Given the description of an element on the screen output the (x, y) to click on. 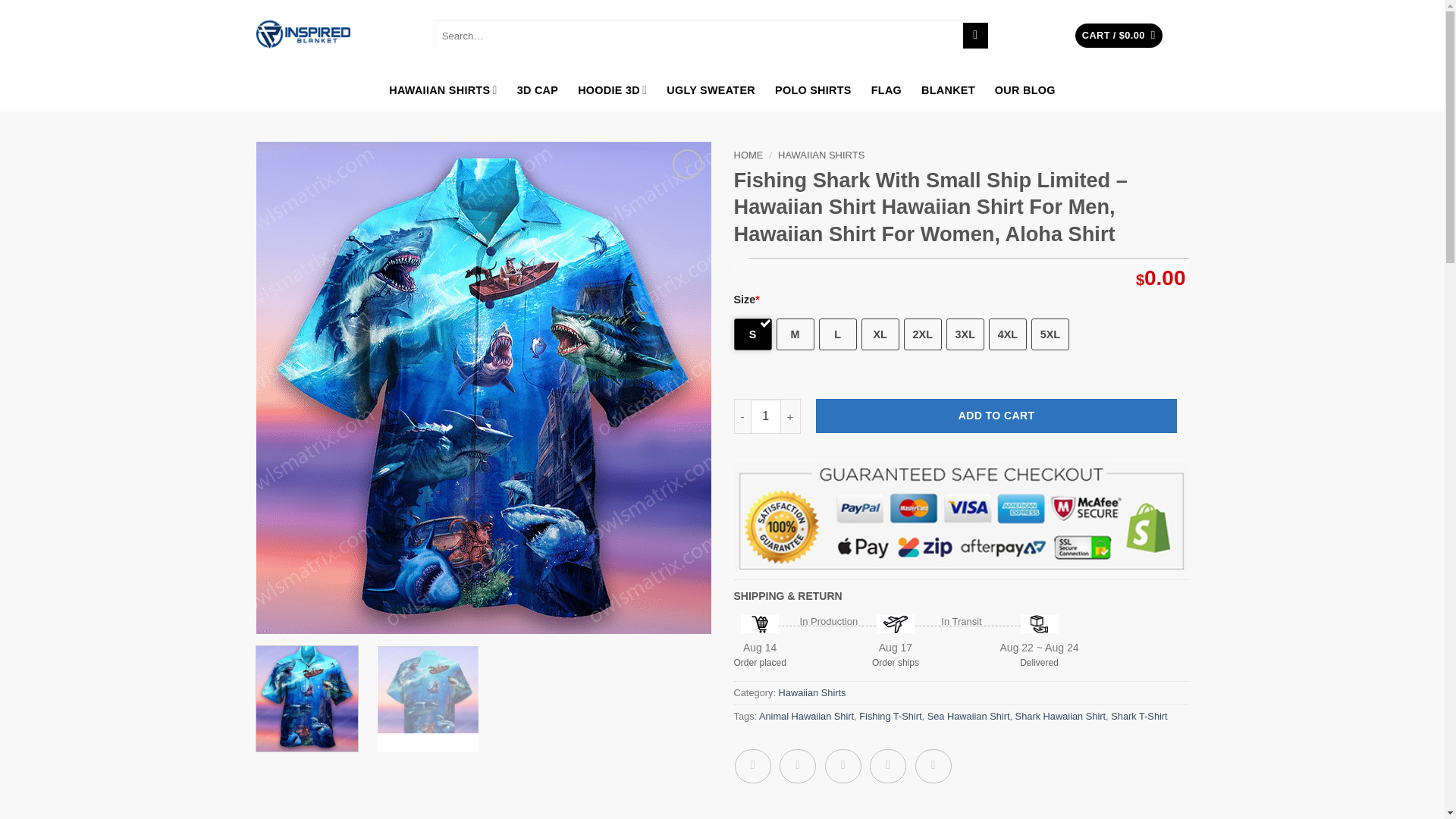
L (837, 334)
Cart (1118, 35)
4XL (1007, 334)
M (794, 334)
3D CAP (537, 89)
XL (880, 334)
Search (975, 35)
3XL (965, 334)
2XL (923, 334)
